Given the description of an element on the screen output the (x, y) to click on. 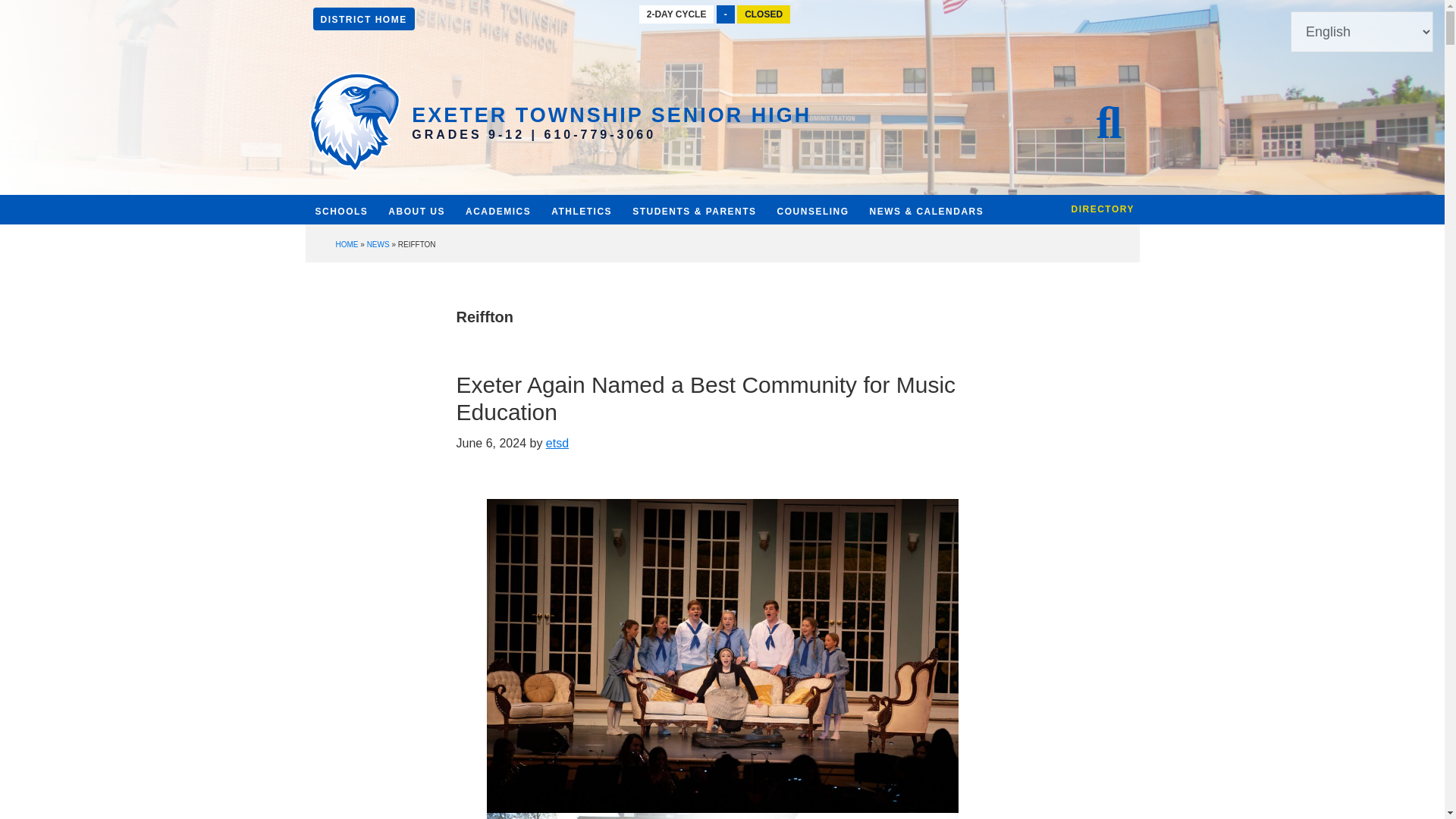
ABOUT US (416, 213)
IE8A8879 (722, 816)
SCHOOLS (340, 218)
DISTRICT HOME (363, 18)
EAGLE HEAD LOGO STROKE (354, 122)
EXETER TOWNSHIP SENIOR HIGH (611, 115)
Exeter Township Senior High (611, 115)
ACADEMICS (497, 211)
